Given the description of an element on the screen output the (x, y) to click on. 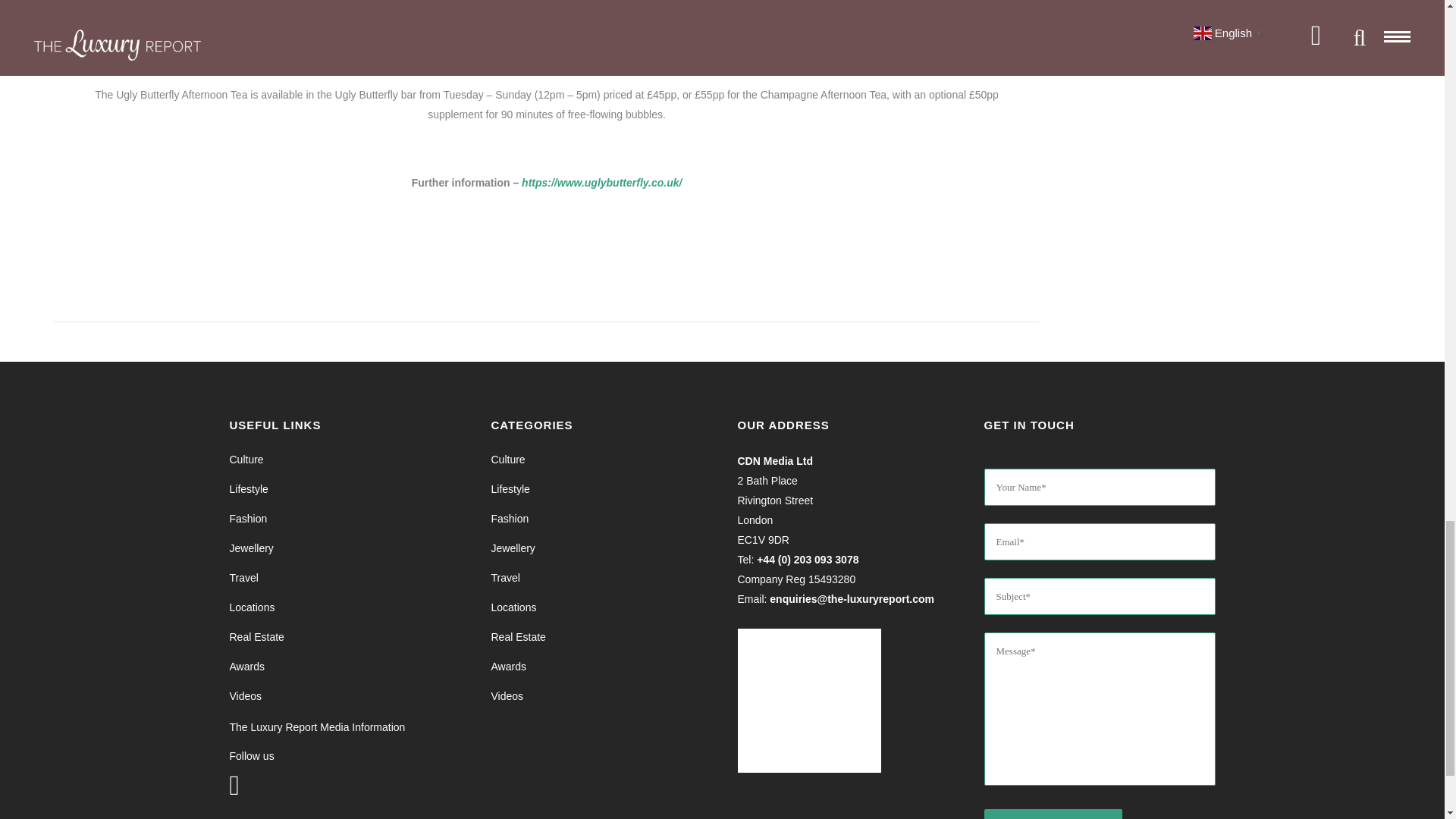
Submit message (1053, 814)
